Given the description of an element on the screen output the (x, y) to click on. 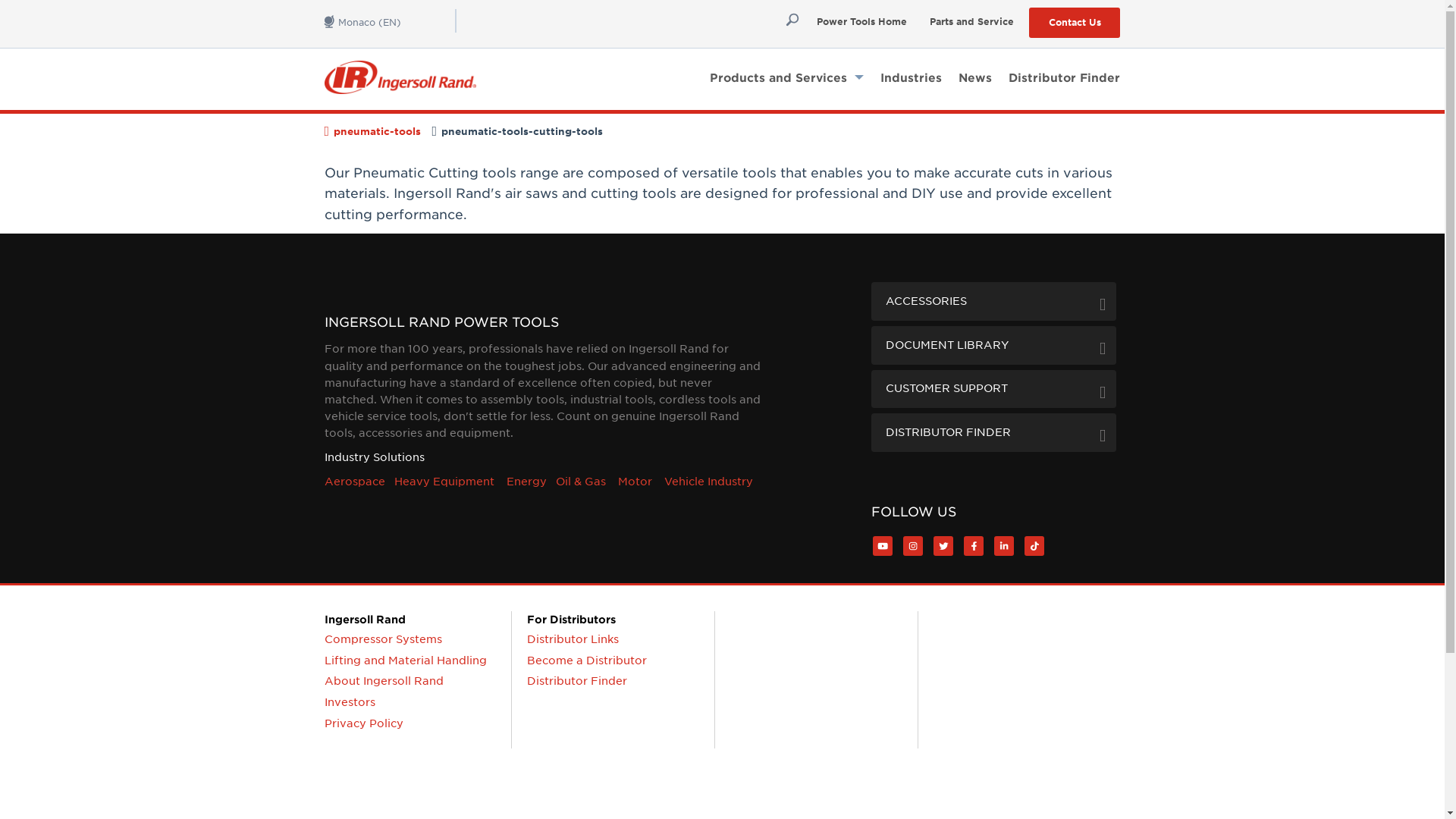
RegionlForm (391, 20)
pneumatic-tools (376, 131)
